Given the description of an element on the screen output the (x, y) to click on. 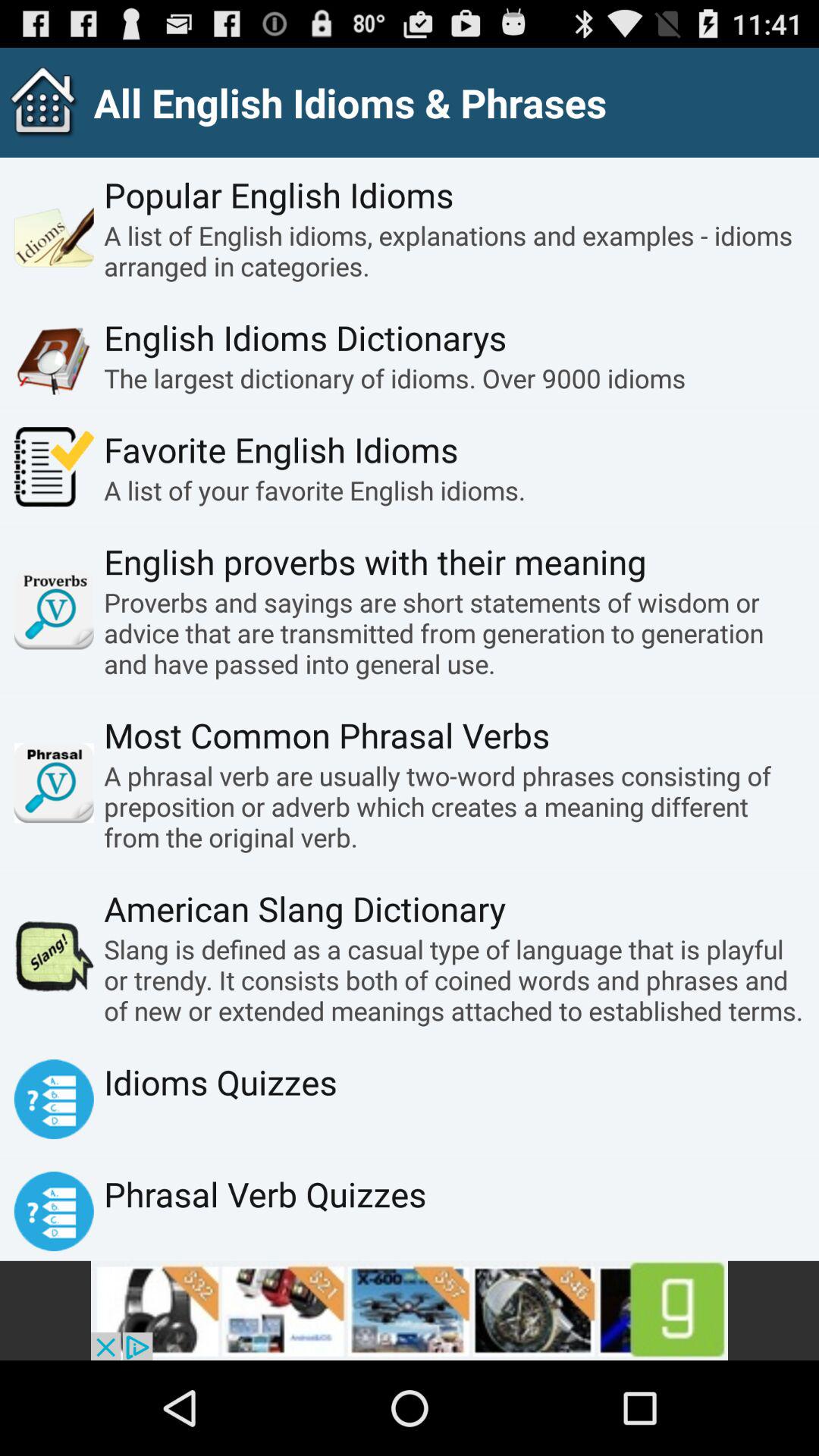
go to advertisement page (409, 1310)
